Given the description of an element on the screen output the (x, y) to click on. 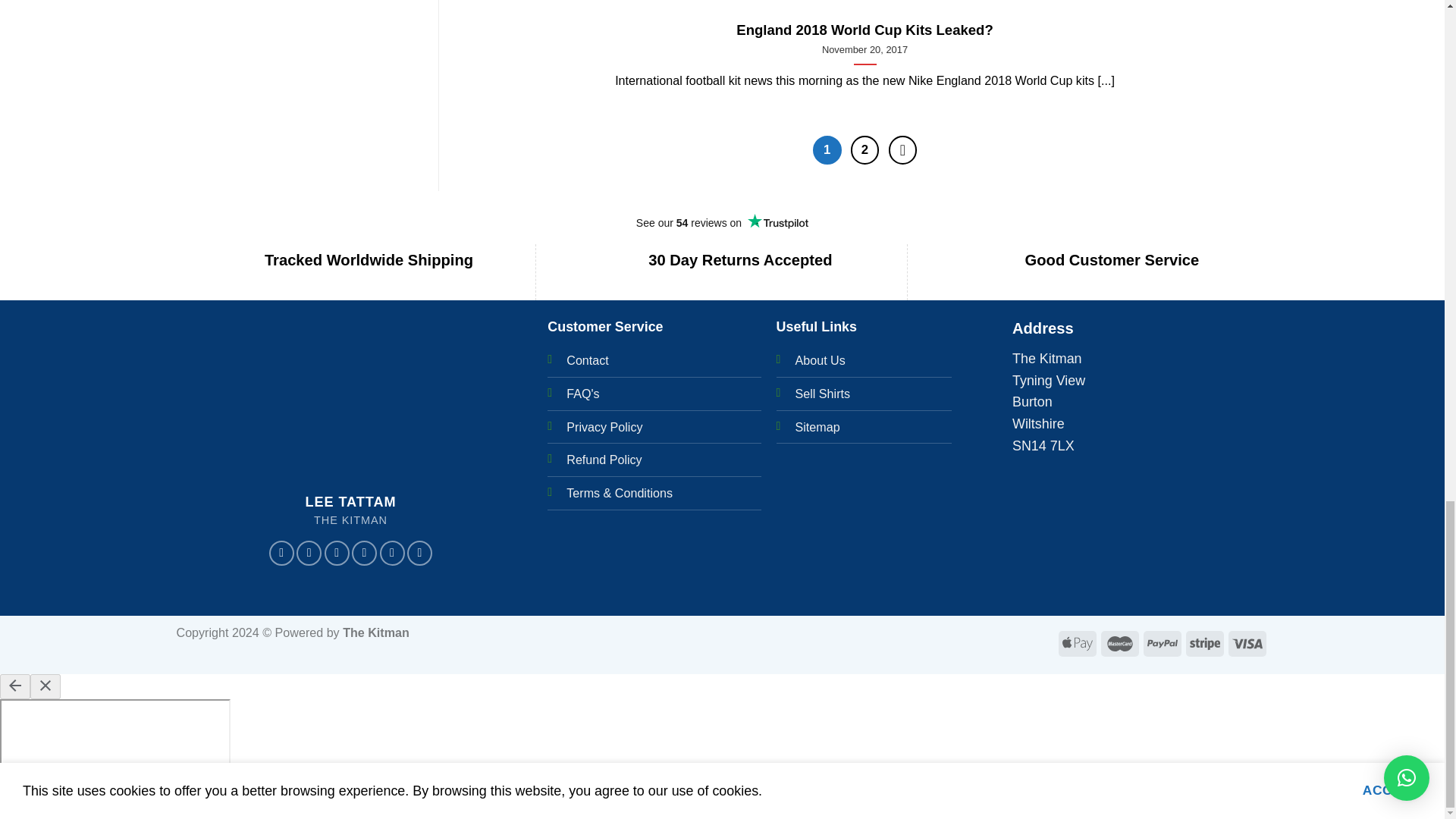
Follow on Facebook (281, 552)
Follow on Instagram (309, 552)
